Given the description of an element on the screen output the (x, y) to click on. 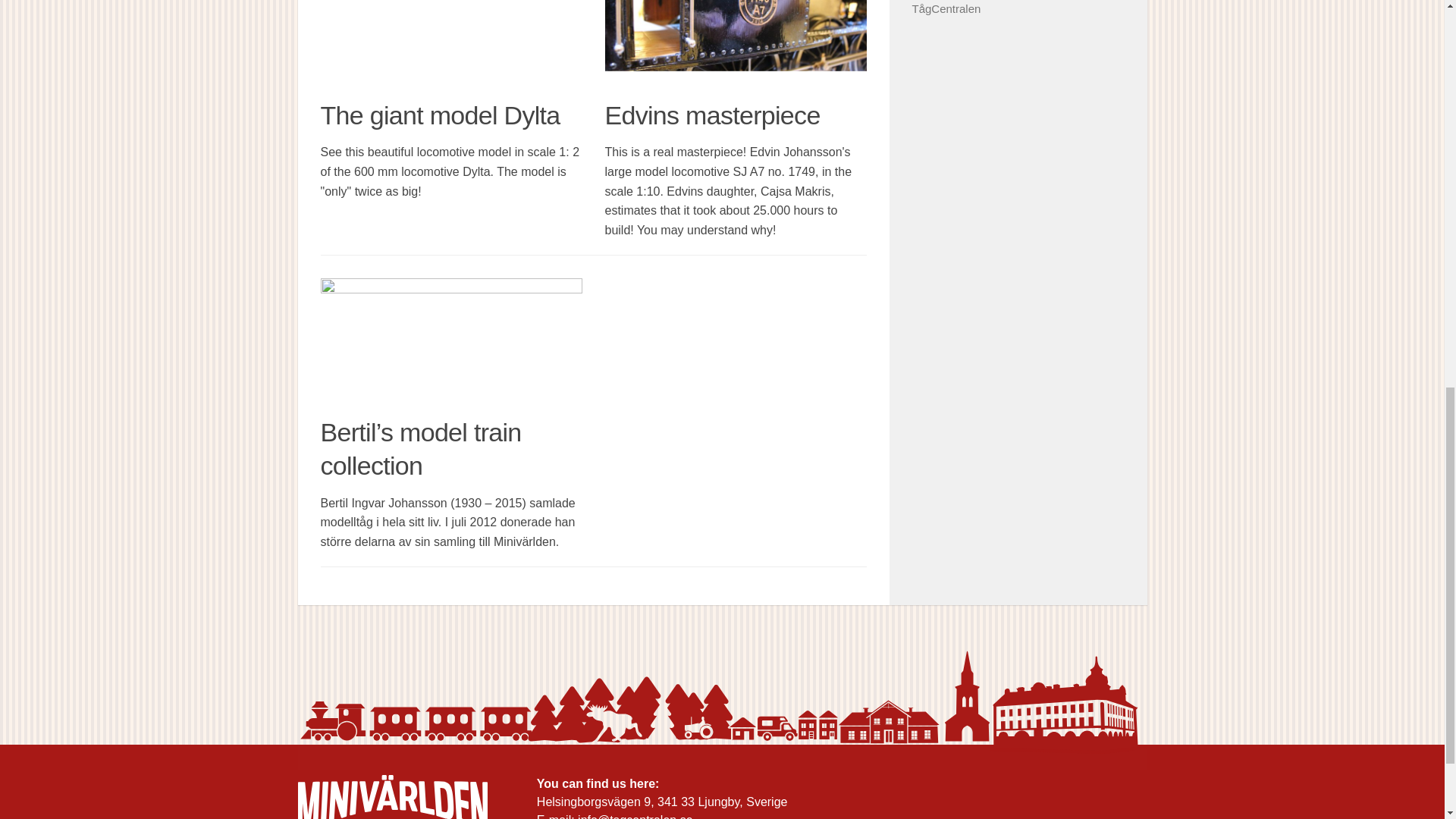
The giant model Dylta (439, 114)
The giant model Dylta (450, 42)
Edvins masterpiece (735, 42)
Edvins masterpiece (713, 114)
